Given the description of an element on the screen output the (x, y) to click on. 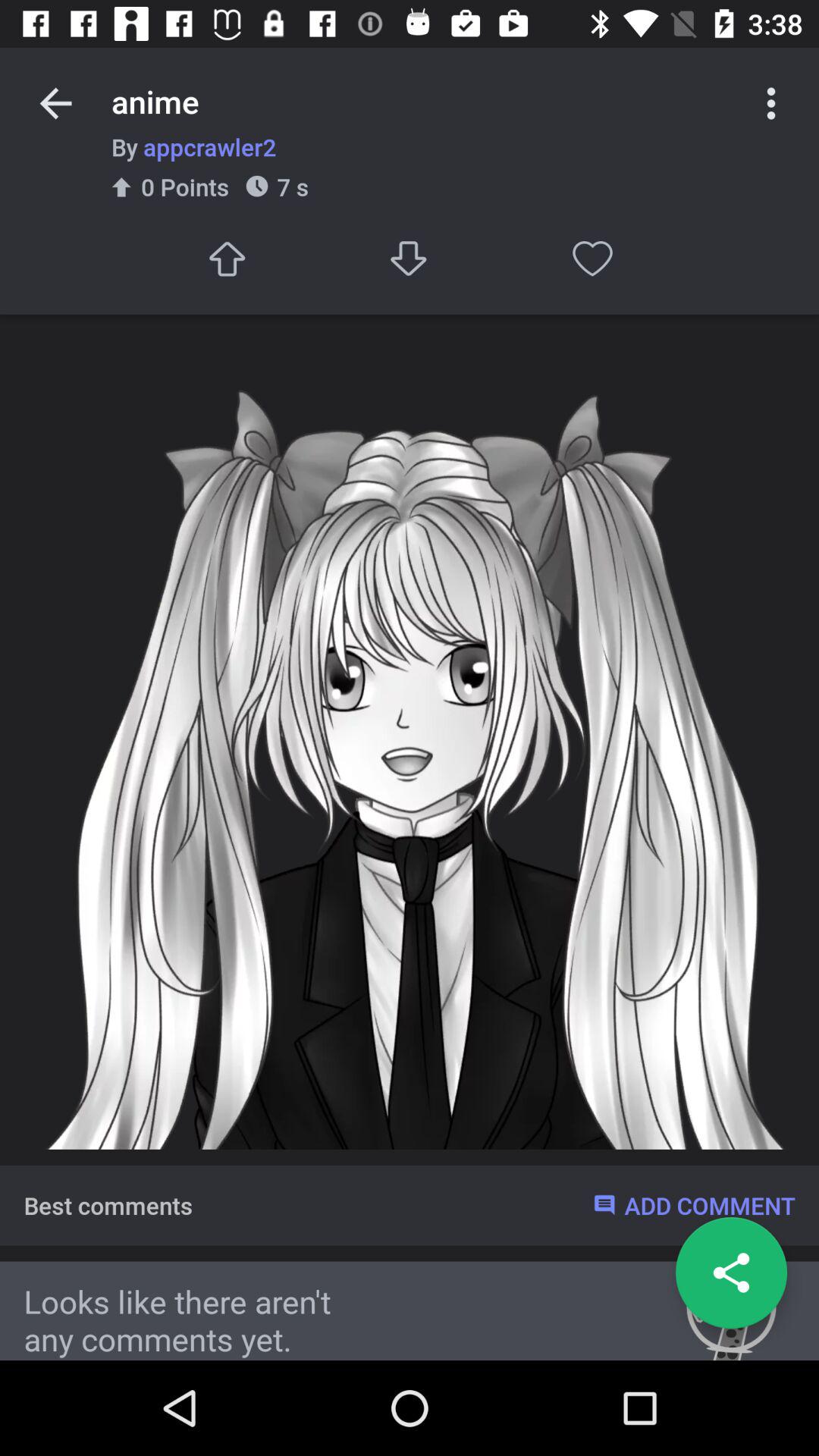
go to previous (55, 103)
